Given the description of an element on the screen output the (x, y) to click on. 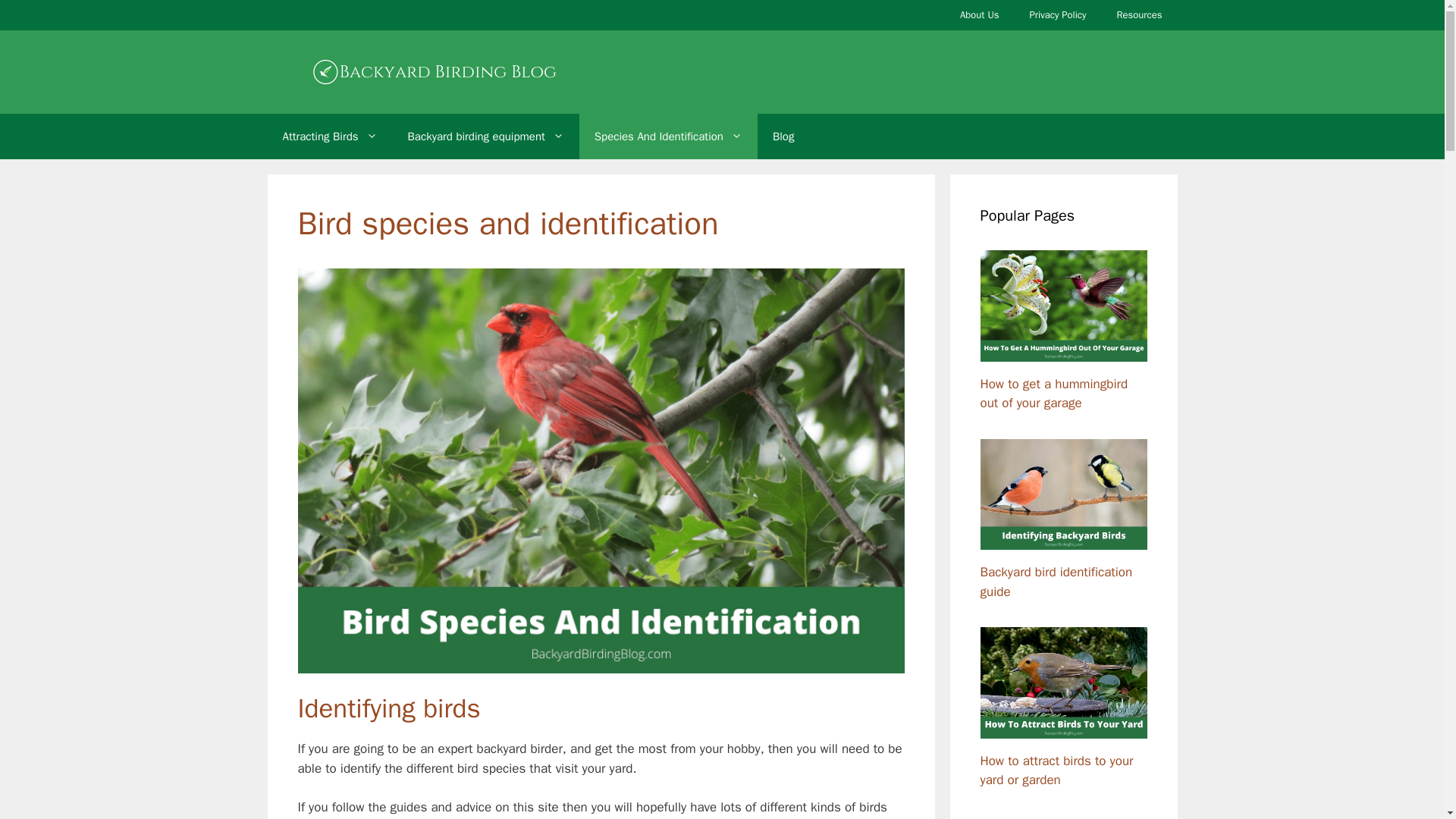
Resources (1139, 15)
Blog (783, 135)
Attracting Birds (328, 135)
Species And Identification (668, 135)
Backyard birding equipment (486, 135)
About Us (978, 15)
Privacy Policy (1056, 15)
